Given the description of an element on the screen output the (x, y) to click on. 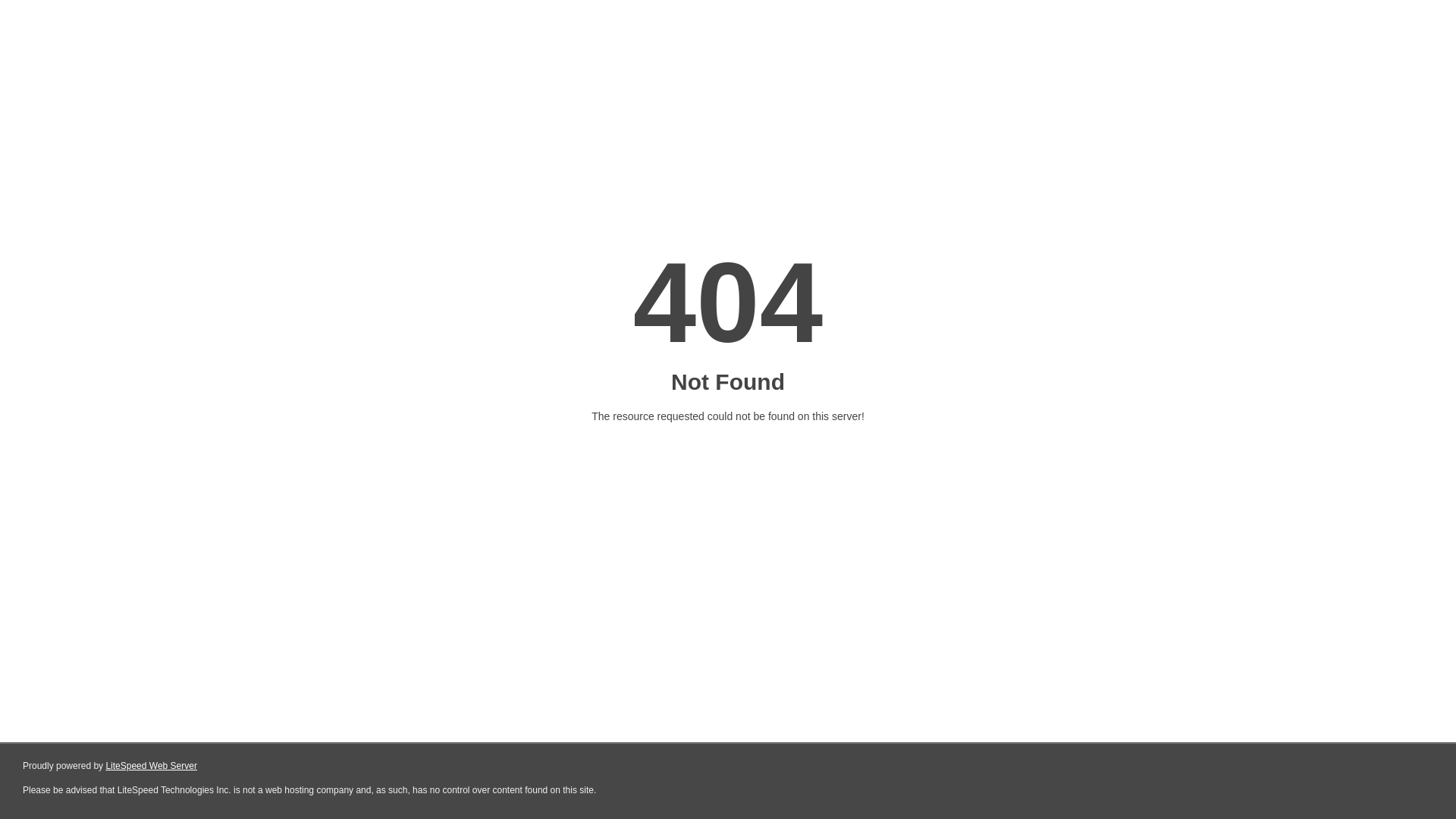
LiteSpeed Web Server Element type: text (151, 765)
